Given the description of an element on the screen output the (x, y) to click on. 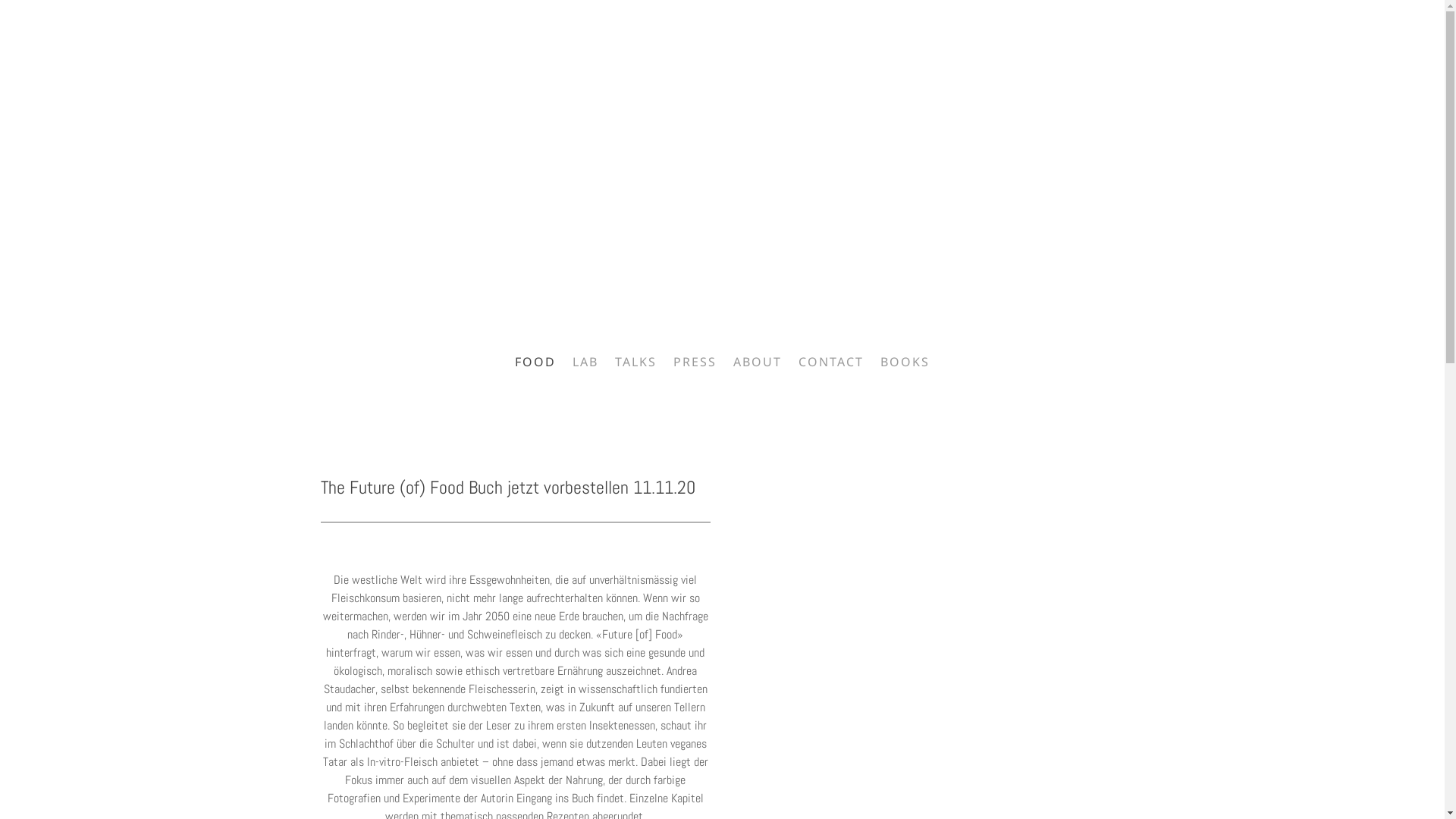
TALKS Element type: text (635, 361)
FOOD Element type: text (535, 361)
BOOKS Element type: text (905, 361)
PRESS Element type: text (694, 361)
CONTACT Element type: text (831, 361)
ABOUT Element type: text (757, 361)
LAB Element type: text (585, 361)
